Given the description of an element on the screen output the (x, y) to click on. 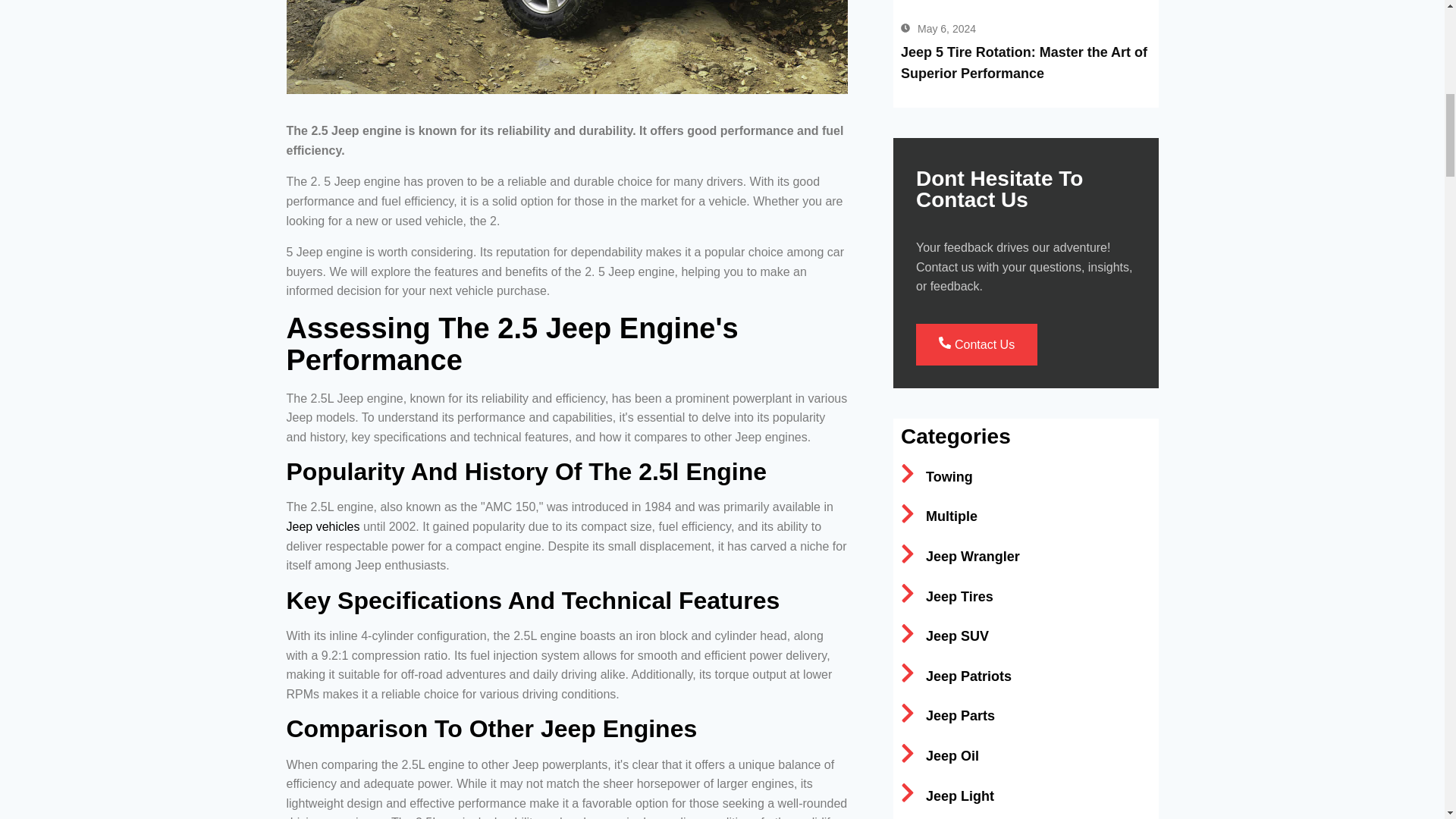
Jeep Patriots (956, 676)
Multiple (938, 516)
Towing (936, 476)
Contact Us (975, 344)
Jeep vehicles (322, 526)
Jeep Tires (946, 596)
Jeep SUV (944, 636)
Jeep Wrangler (960, 556)
